Given the description of an element on the screen output the (x, y) to click on. 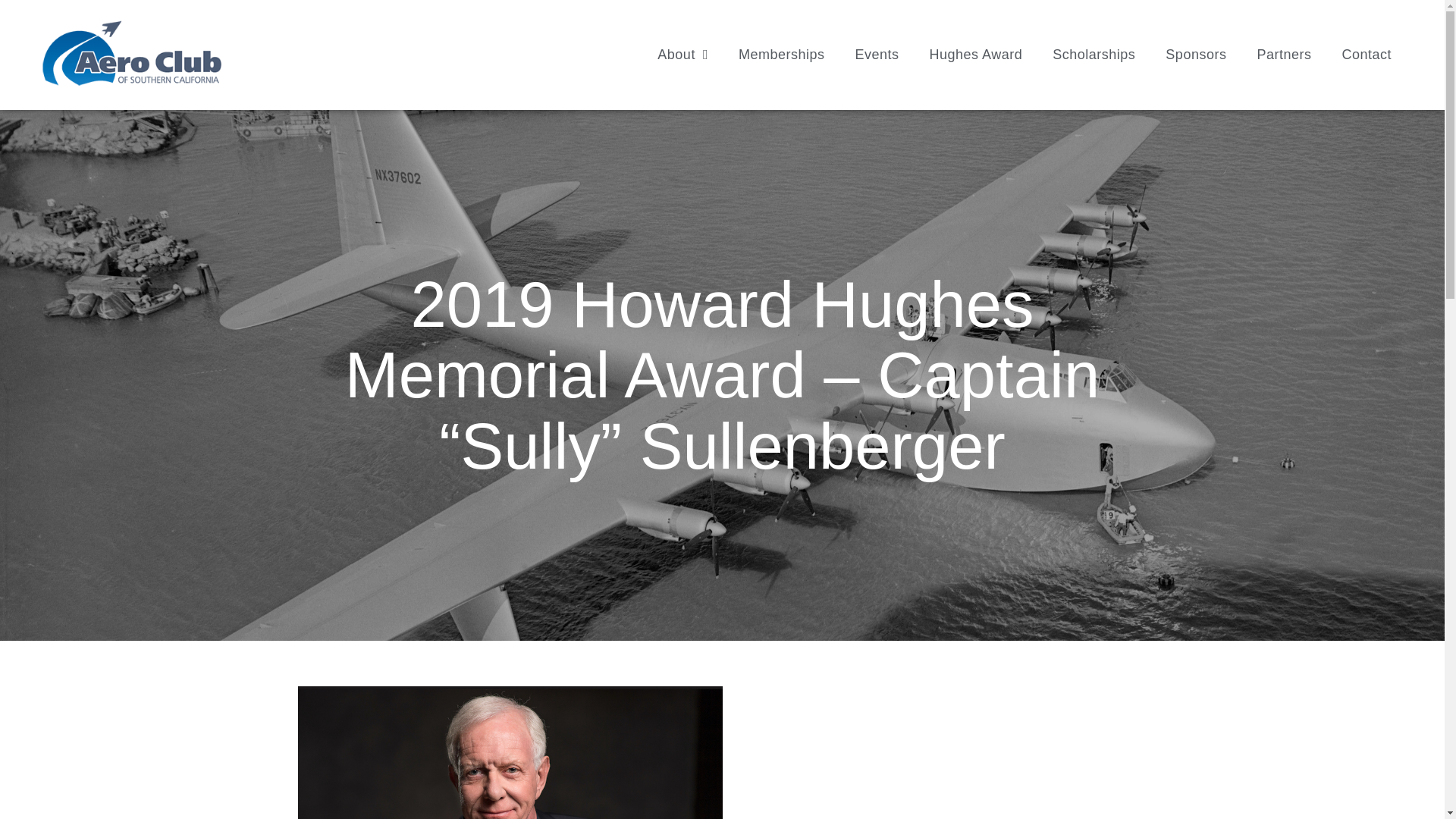
Hughes Award (976, 54)
Scholarships (1093, 54)
Events (877, 54)
Partners (1283, 54)
Contact (1366, 54)
About (682, 54)
Sponsors (1195, 54)
Memberships (781, 54)
